Given the description of an element on the screen output the (x, y) to click on. 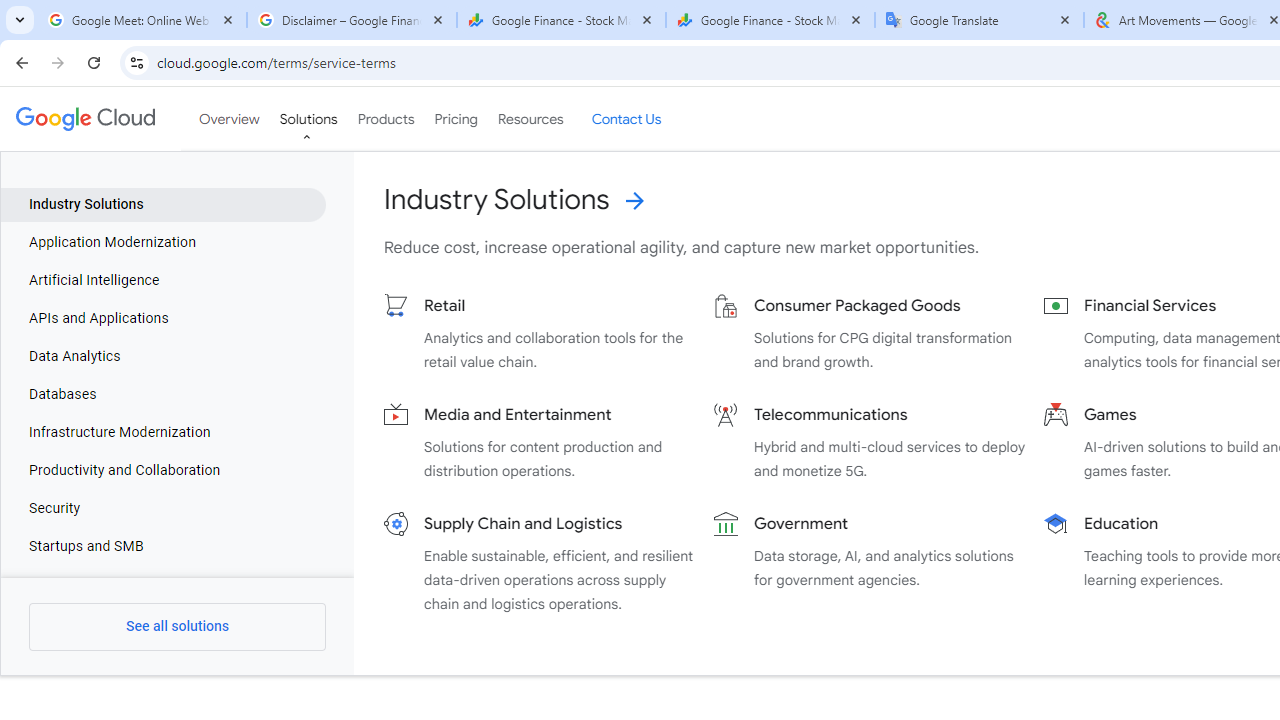
Databases (163, 394)
Solutions (308, 119)
See all solutions (177, 626)
Google Cloud (84, 118)
Pricing (455, 119)
Artificial Intelligence (163, 281)
